Given the description of an element on the screen output the (x, y) to click on. 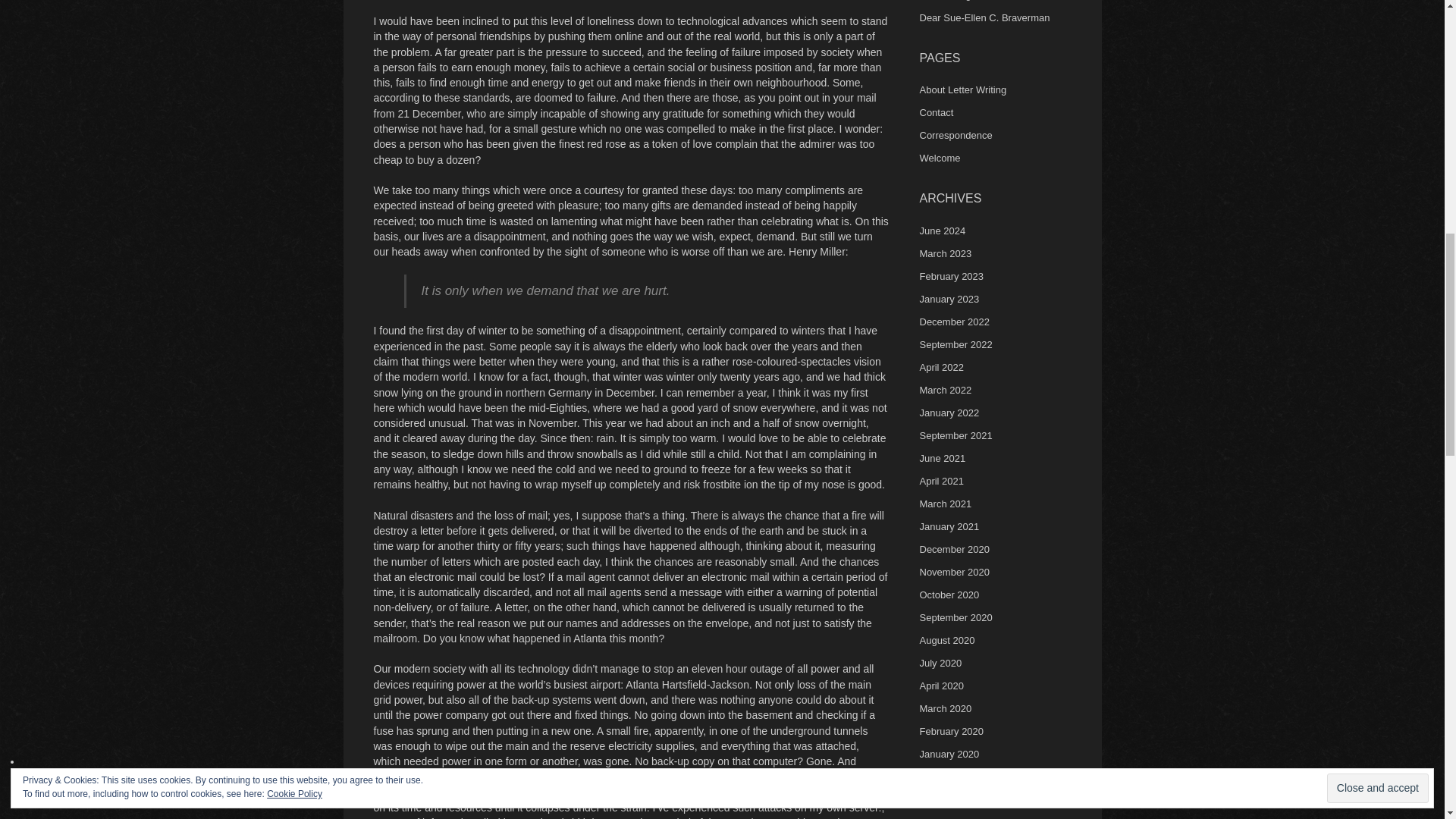
Correspondence (954, 134)
December 2022 (954, 321)
Contact (935, 112)
February 2023 (951, 276)
Welcome (938, 157)
March 2023 (944, 253)
January 2023 (948, 298)
June 2024 (941, 230)
About Letter Writing (962, 89)
